Given the description of an element on the screen output the (x, y) to click on. 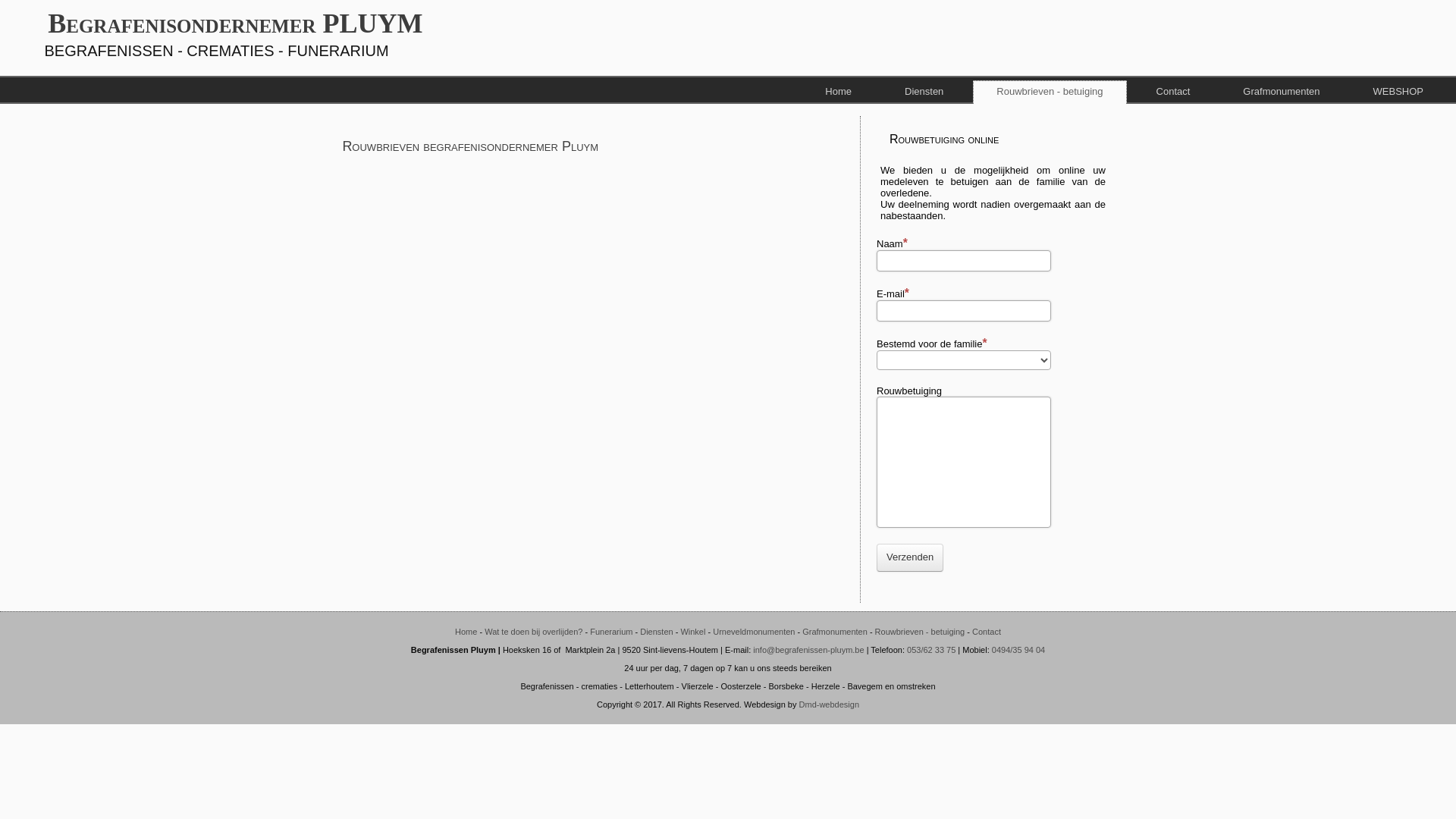
Home Element type: text (838, 91)
Begrafenisondernemer PLUYM Element type: text (234, 23)
Diensten Element type: text (923, 91)
053/62 33 75 Element type: text (930, 649)
Rouwbrieven - betuiging Element type: text (1049, 91)
Wat te doen bij overlijden? Element type: text (533, 631)
info@begrafenissen-pluym.be Element type: text (808, 649)
Home Element type: text (465, 631)
Grafmonumenten Element type: text (834, 631)
Verzenden Element type: text (909, 557)
0494/35 94 04 Element type: text (1017, 649)
Winkel Element type: text (692, 631)
WEBSHOP Element type: text (1397, 91)
Grafmonumenten Element type: text (1281, 91)
Contact Element type: text (986, 631)
Diensten Element type: text (656, 631)
Urneveldmonumenten Element type: text (753, 631)
Contact Element type: text (1173, 91)
Rouwbrieven - betuiging Element type: text (920, 631)
Funerarium Element type: text (610, 631)
 Dmd-webdesign Element type: text (827, 704)
